Given the description of an element on the screen output the (x, y) to click on. 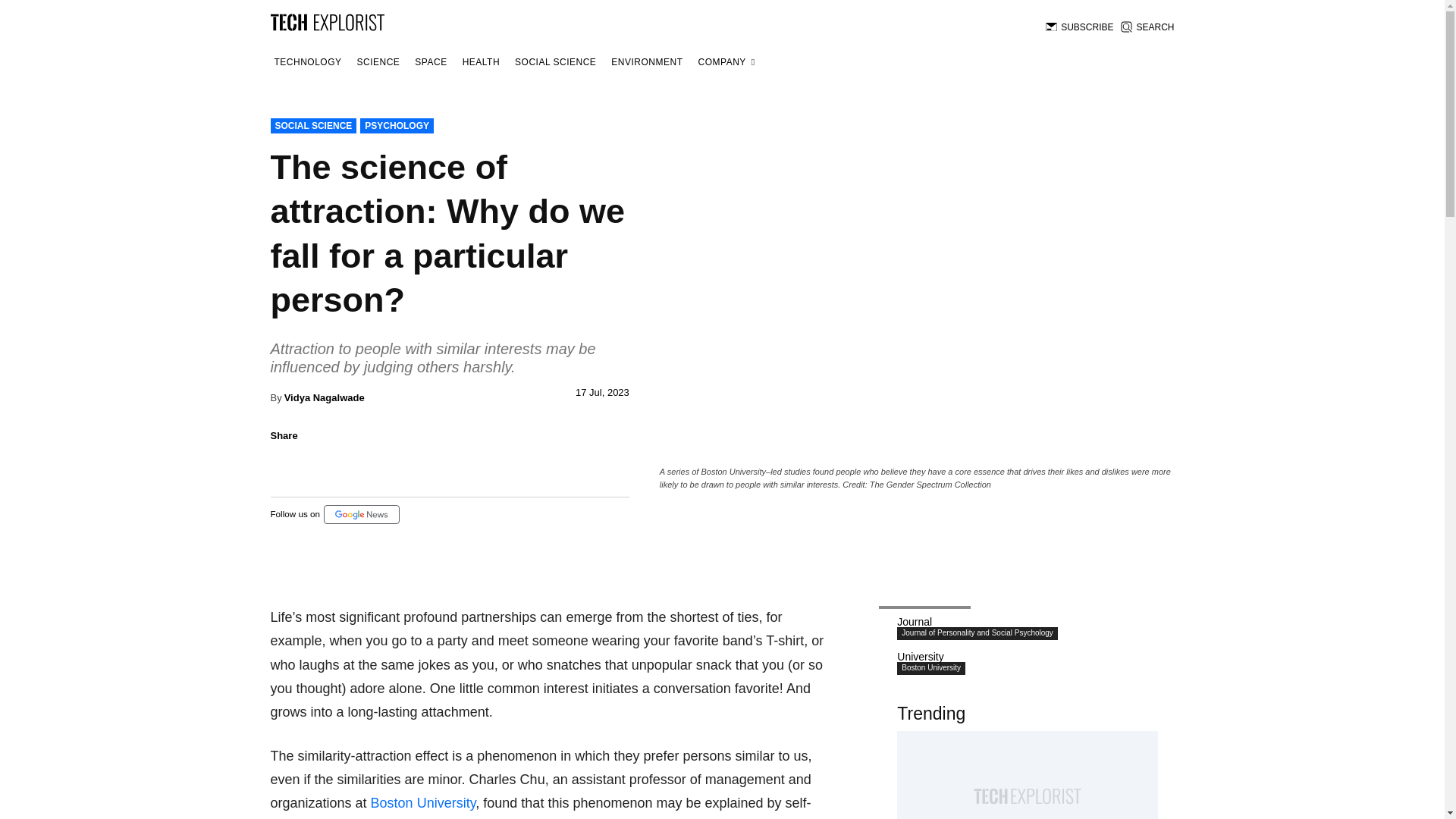
SEARCH (1147, 26)
SUBSCRIBE (1079, 26)
PSYCHOLOGY (396, 125)
Home office setup can impact work-from-home success (1026, 775)
SOCIAL SCIENCE (312, 125)
Boston University (423, 802)
SEARCH (1147, 26)
TECHNOLOGY (307, 62)
HEALTH (480, 62)
ENVIRONMENT (646, 62)
